Given the description of an element on the screen output the (x, y) to click on. 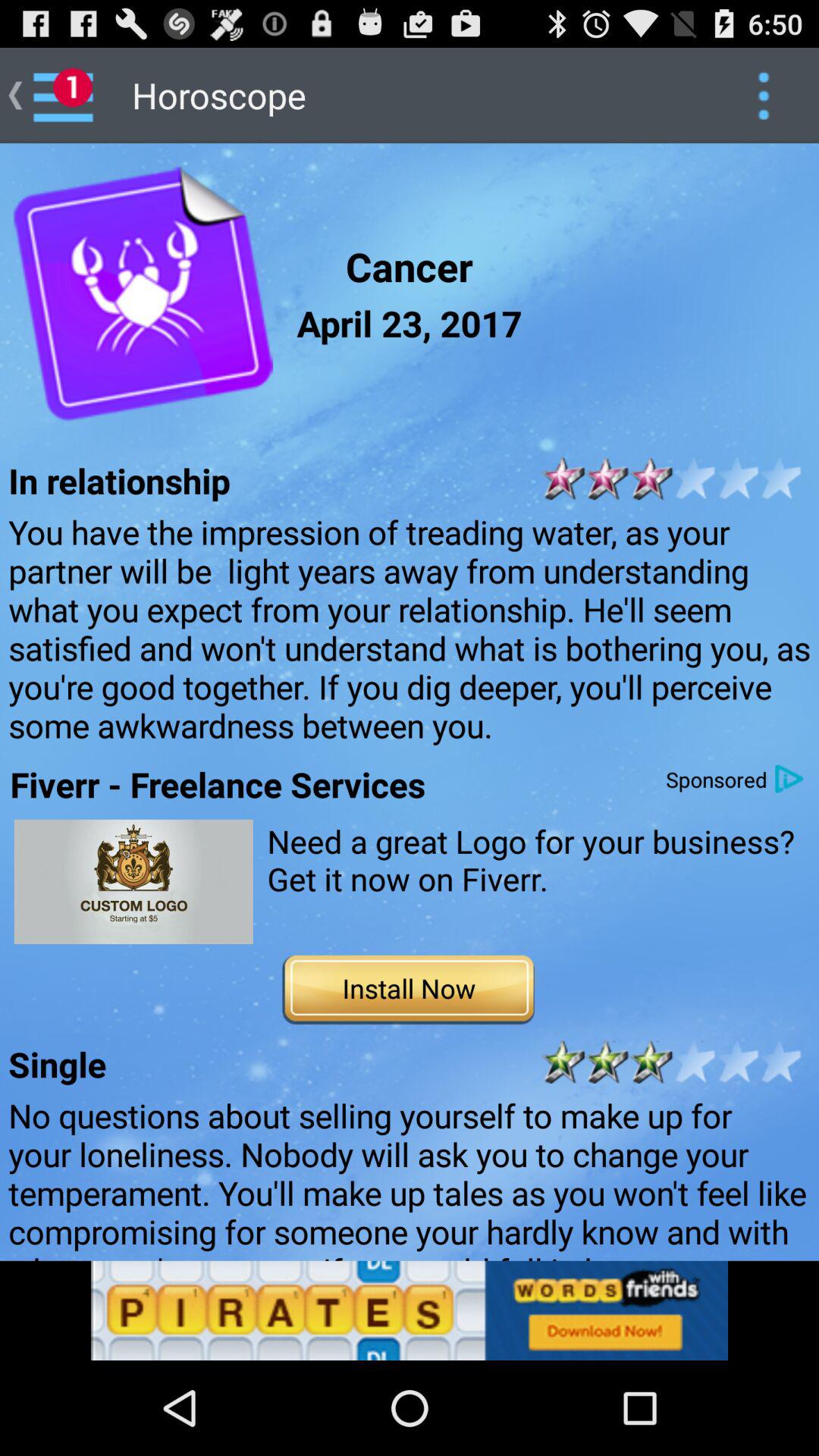
go to the advertising app (133, 881)
